Given the description of an element on the screen output the (x, y) to click on. 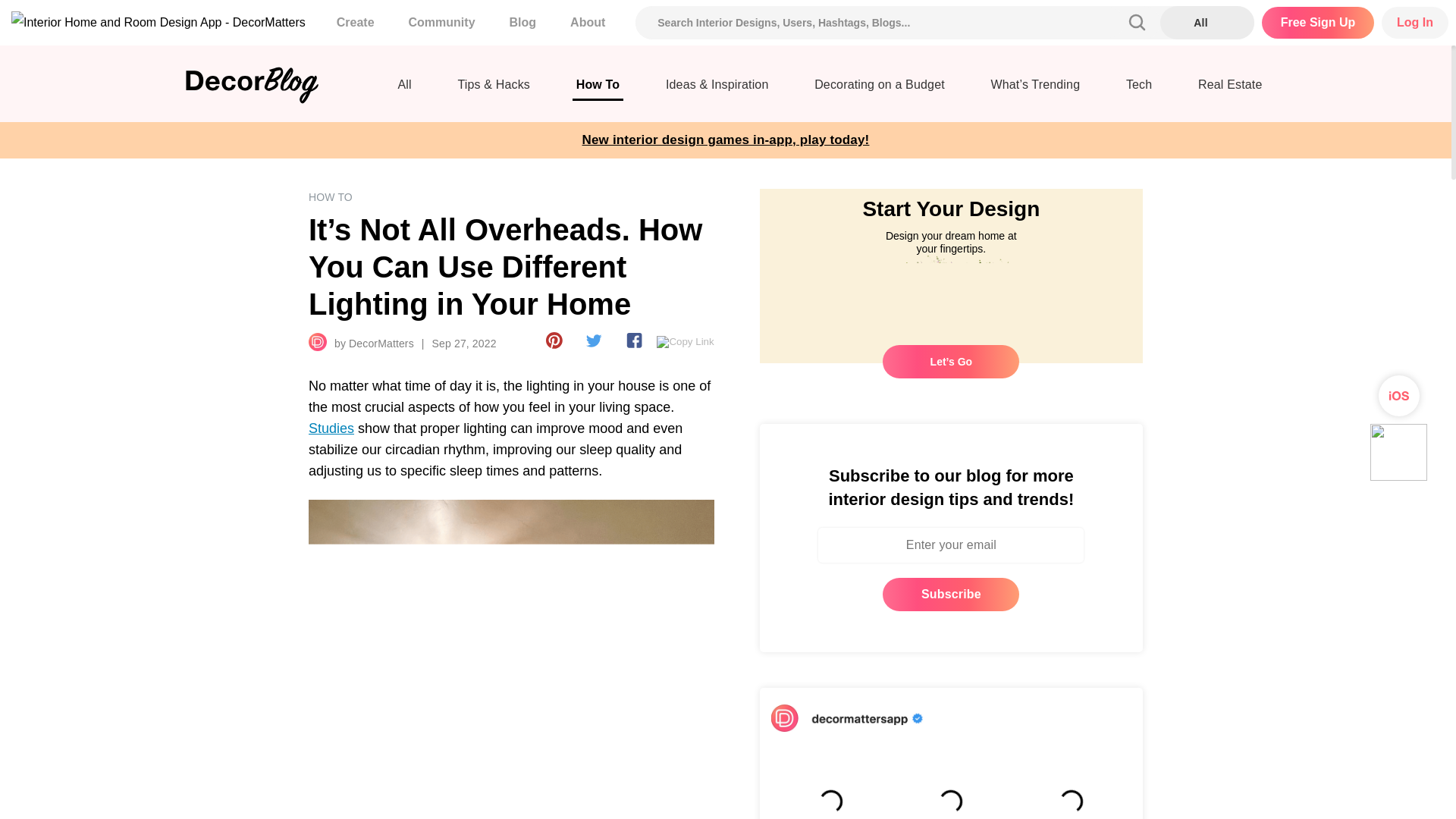
How To (598, 89)
Studies (330, 427)
Subscribe (950, 594)
Subscribe (950, 594)
All (404, 89)
Tech (1139, 89)
Log In (1414, 22)
Decorating on a Budget (879, 89)
New interior design games in-app, play today! (725, 140)
Real Estate (1229, 89)
